Given the description of an element on the screen output the (x, y) to click on. 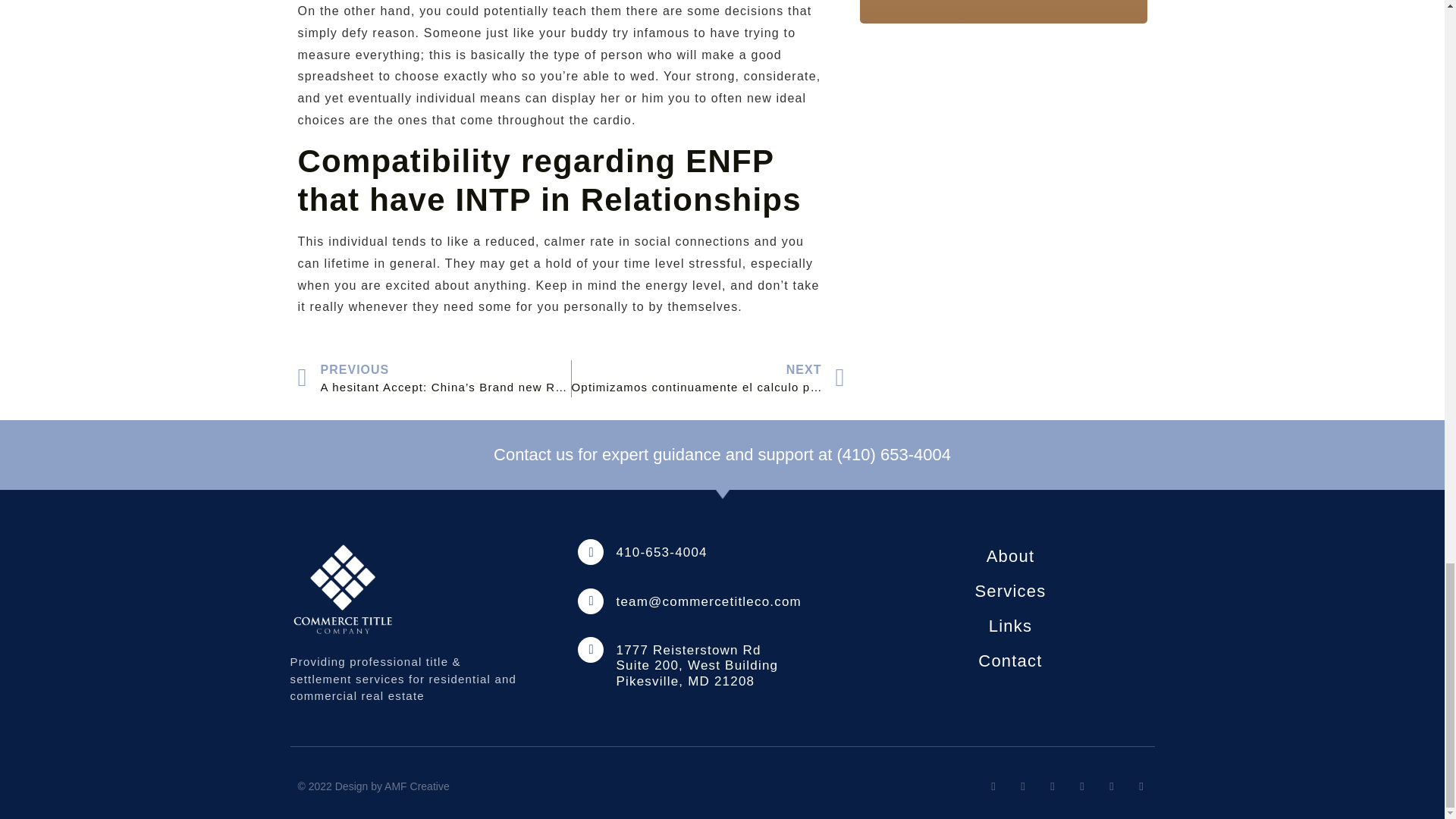
Contact (1010, 660)
Links (1010, 626)
About (1010, 556)
410-653-4004 (660, 552)
Services (1010, 591)
